Given the description of an element on the screen output the (x, y) to click on. 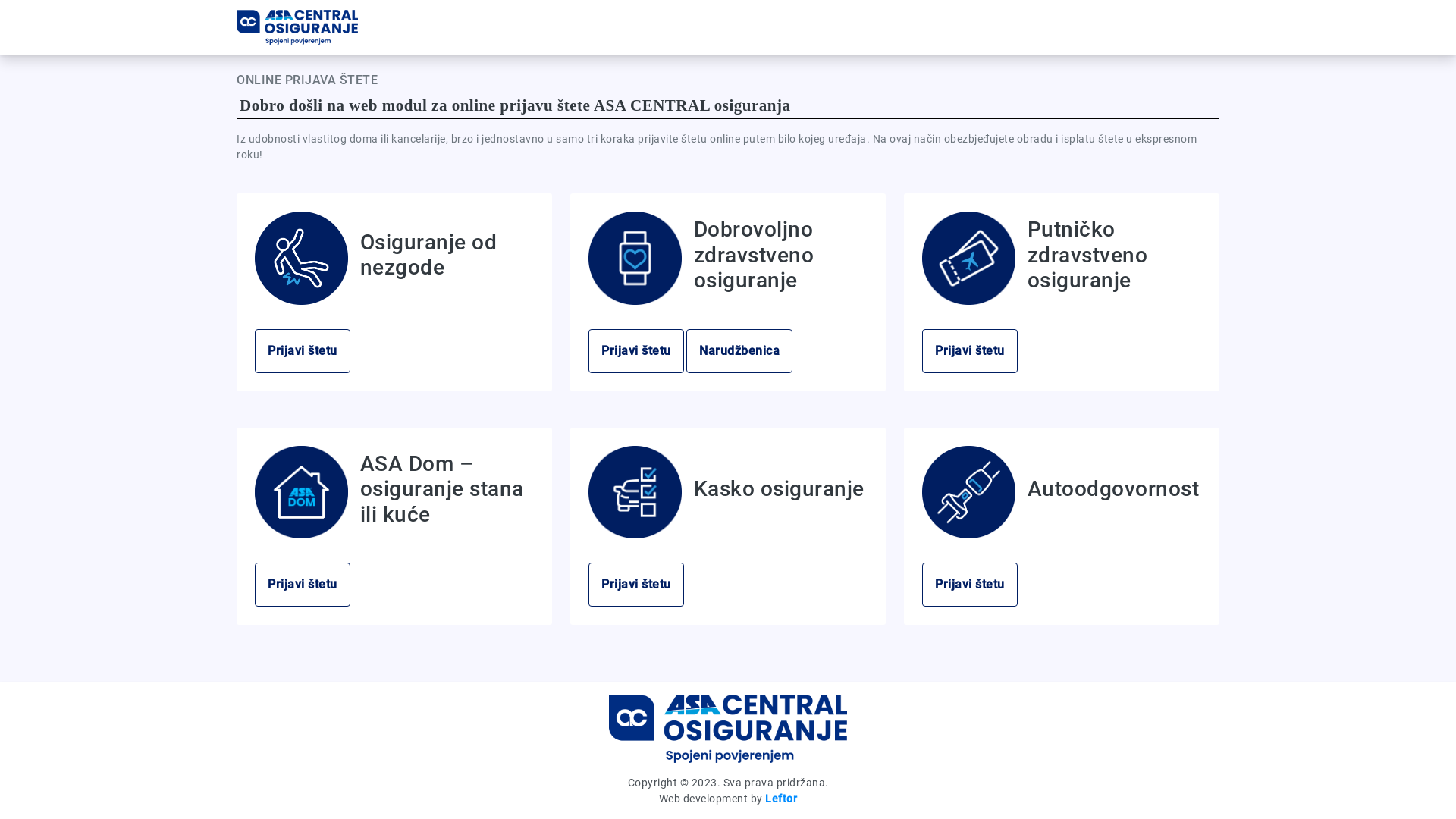
Leftor Element type: text (781, 798)
